Given the description of an element on the screen output the (x, y) to click on. 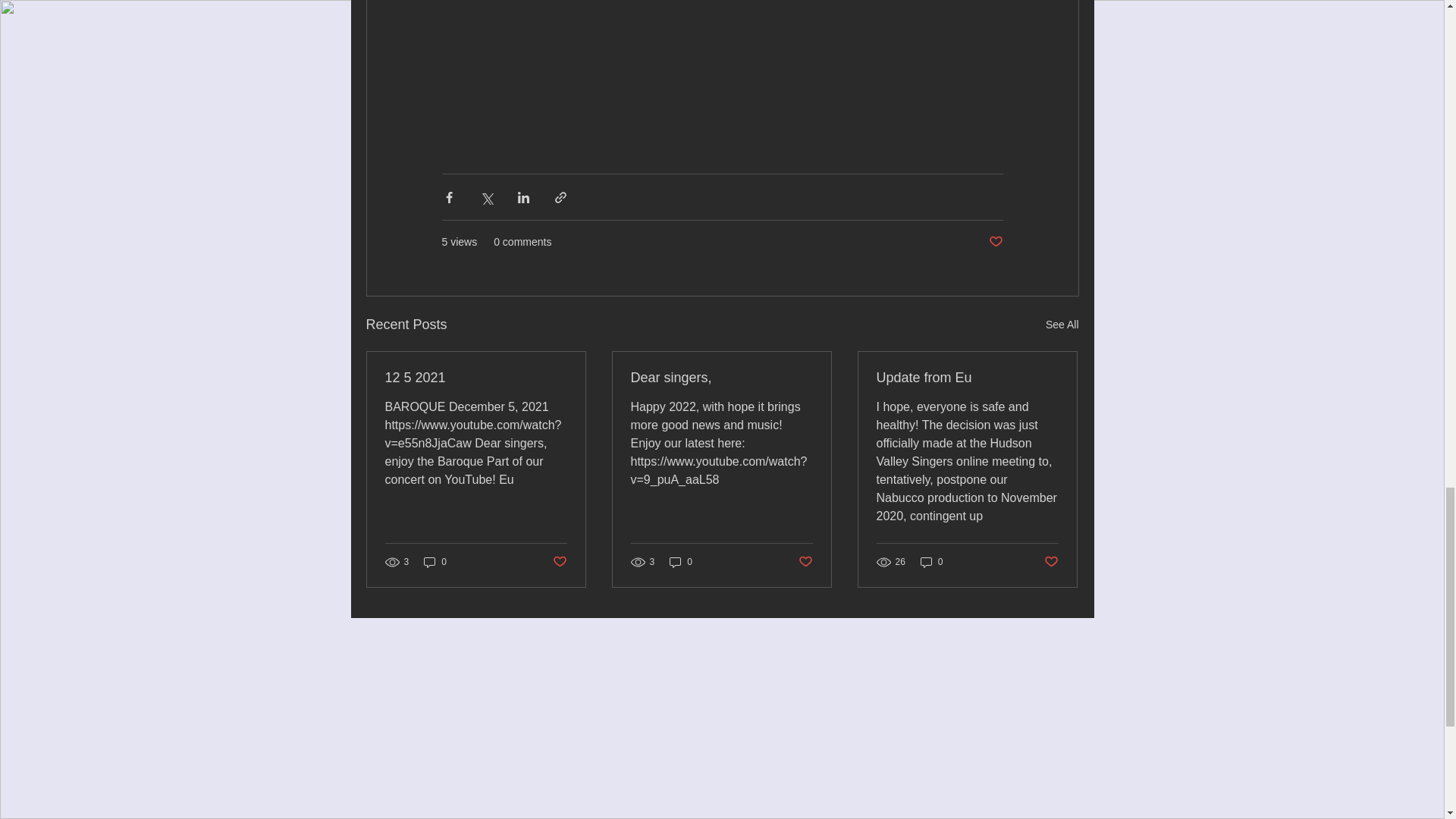
0 (931, 562)
Post not marked as liked (558, 561)
Update from Eu (967, 377)
Post not marked as liked (995, 242)
Post not marked as liked (804, 561)
See All (1061, 324)
0 (681, 562)
0 (435, 562)
12 5 2021 (476, 377)
Post not marked as liked (1050, 561)
